Given the description of an element on the screen output the (x, y) to click on. 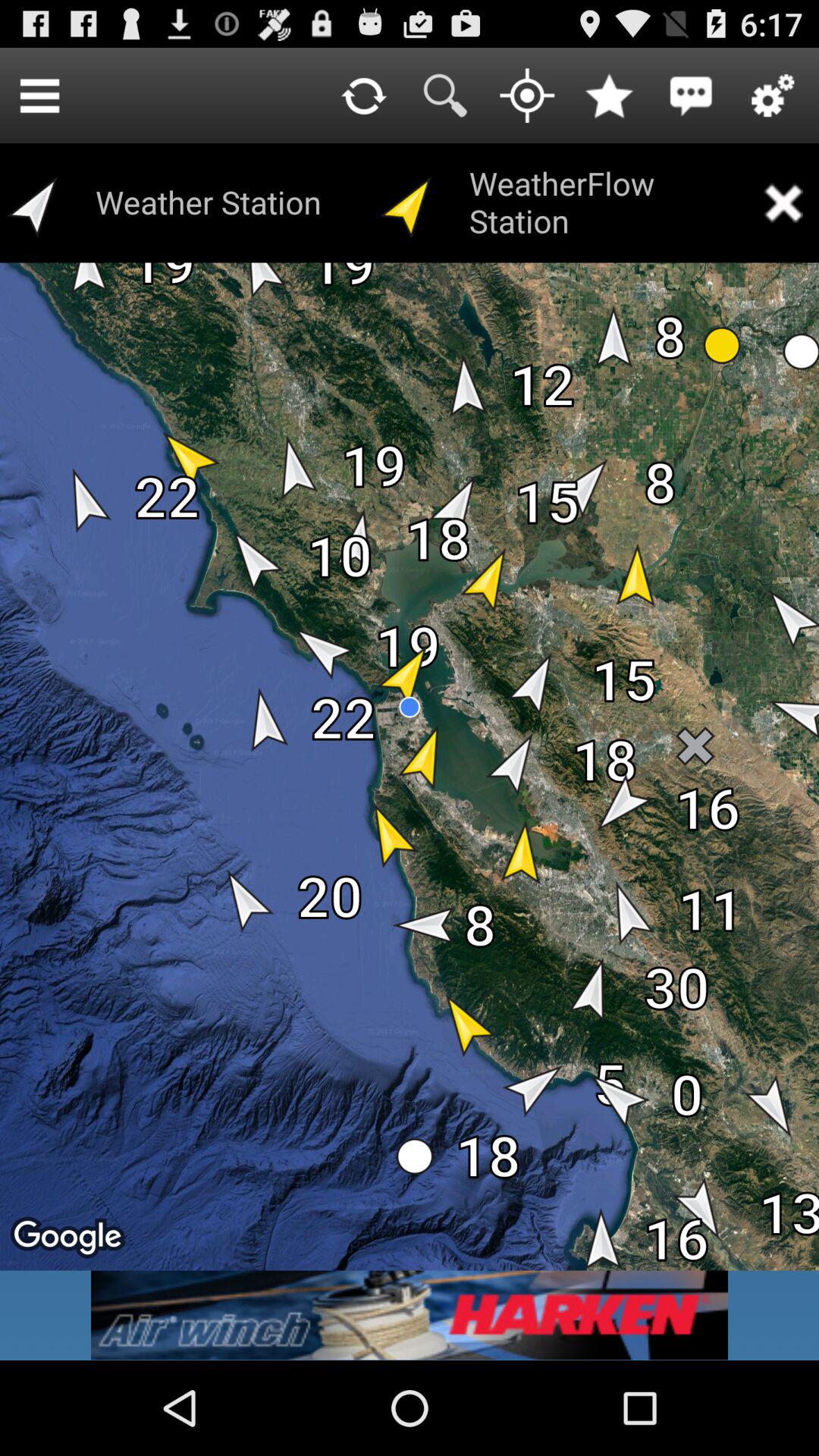
add to favorites (608, 95)
